Given the description of an element on the screen output the (x, y) to click on. 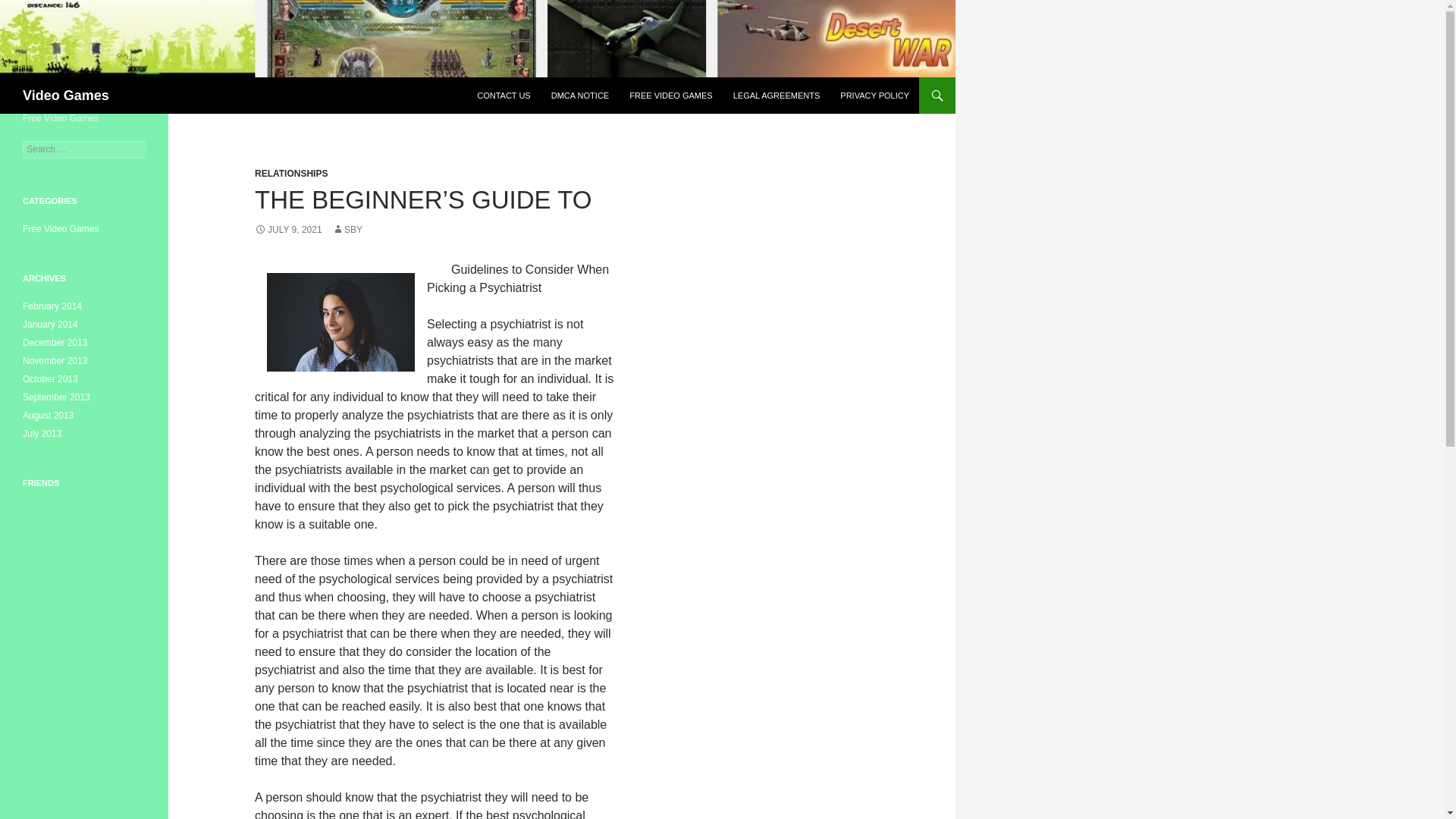
July 2013 (42, 433)
Video Games (66, 95)
August 2013 (48, 415)
FREE VIDEO GAMES (670, 94)
PRIVACY POLICY (874, 94)
RELATIONSHIPS (290, 173)
October 2013 (50, 378)
November 2013 (55, 360)
DMCA NOTICE (579, 94)
CONTACT US (503, 94)
LEGAL AGREEMENTS (776, 94)
September 2013 (56, 397)
Search for: (84, 149)
Free Video Games (61, 228)
